Given the description of an element on the screen output the (x, y) to click on. 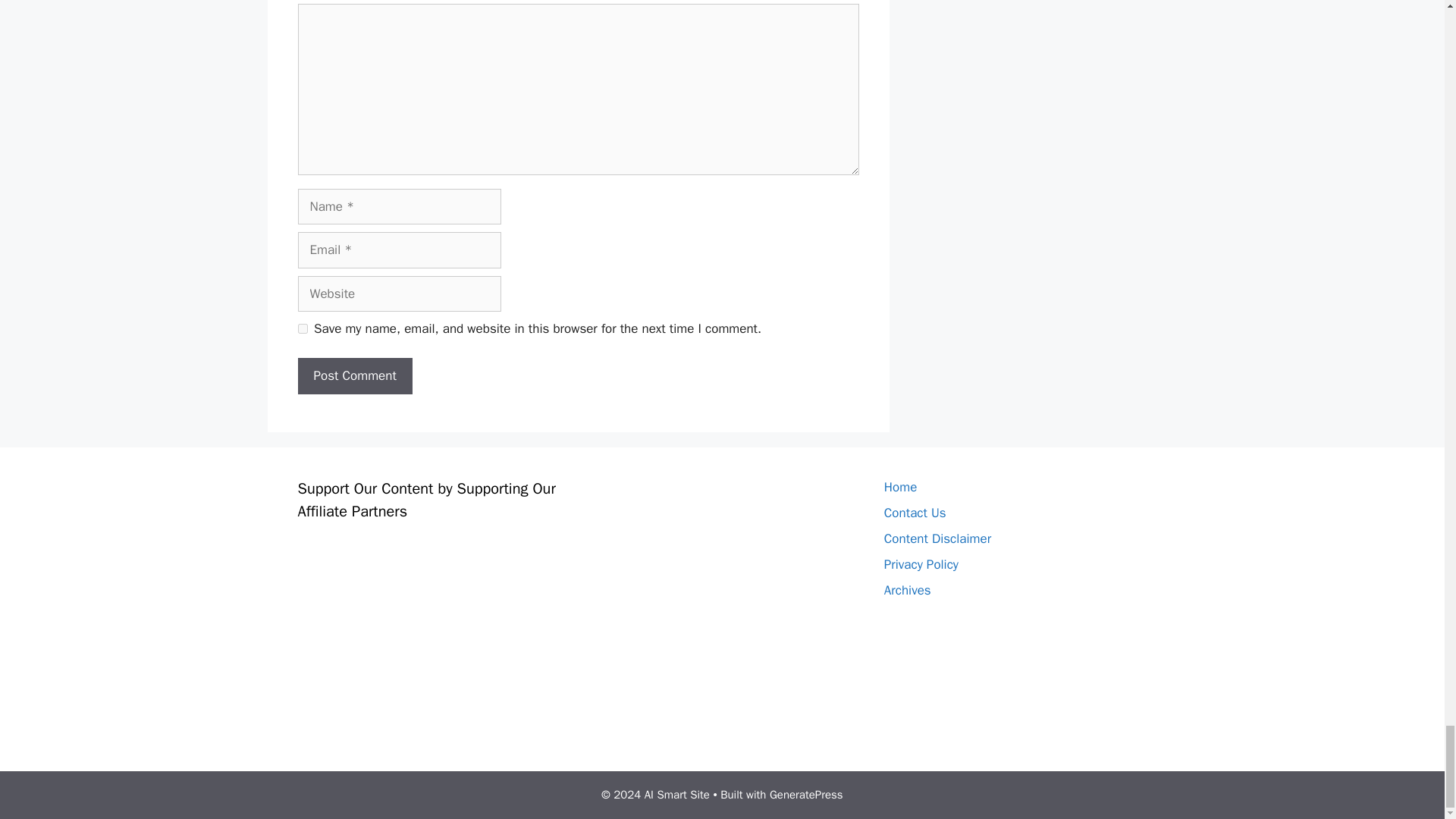
Post Comment (354, 375)
Archives (907, 590)
Privacy Policy (920, 564)
Post Comment (354, 375)
Content Disclaimer (937, 538)
yes (302, 328)
GeneratePress (806, 794)
Home (900, 487)
Contact Us (914, 512)
